Given the description of an element on the screen output the (x, y) to click on. 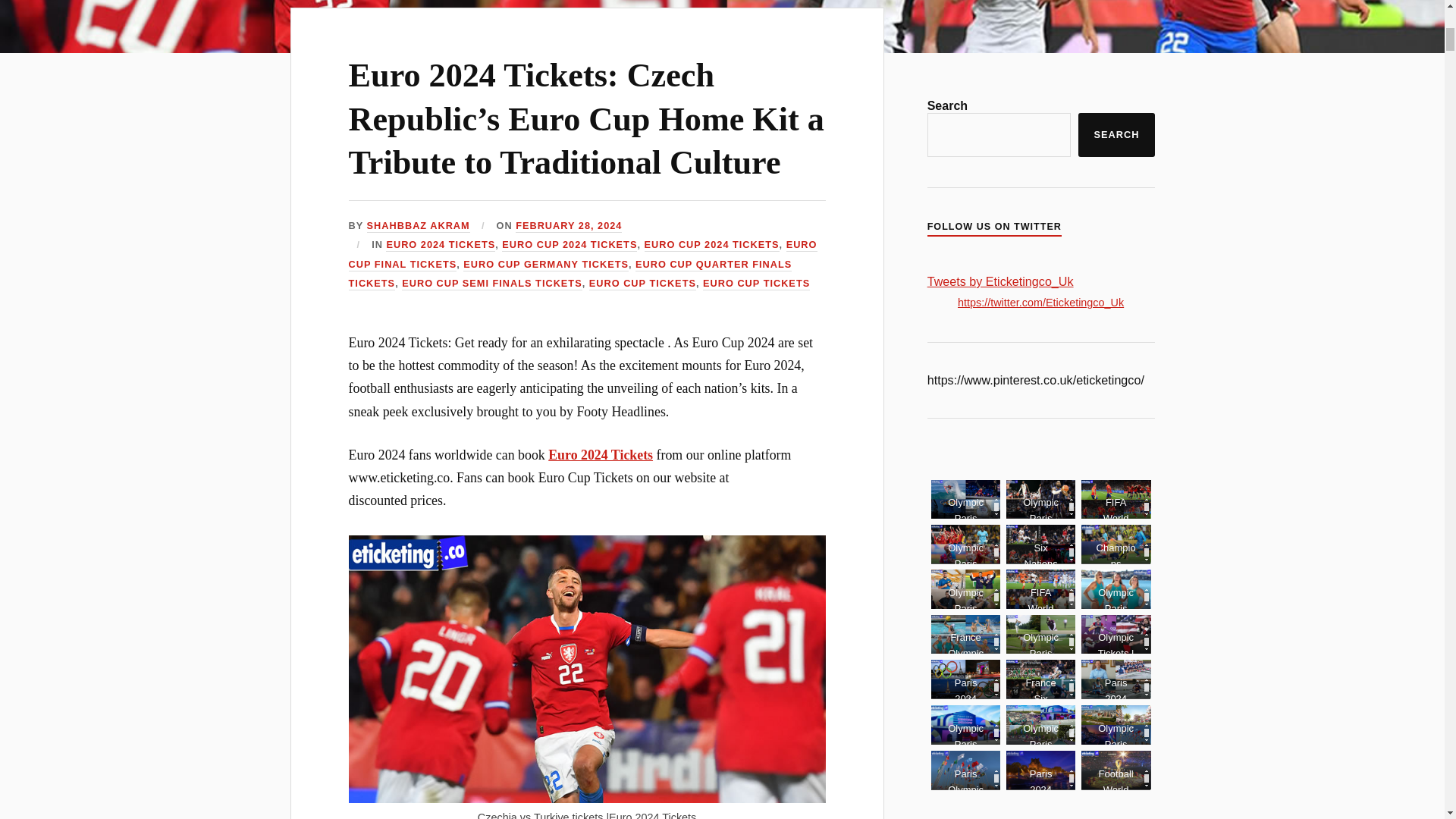
EURO CUP QUARTER FINALS TICKETS (570, 274)
EURO CUP 2024 TICKETS (569, 245)
EURO CUP GERMANY TICKETS (545, 264)
SHAHBBAZ AKRAM (418, 226)
FEBRUARY 28, 2024 (568, 226)
EURO CUP 2024 TICKETS (711, 245)
EURO CUP FINAL TICKETS (582, 255)
Posts by Shahbbaz Akram (418, 226)
EURO 2024 TICKETS (440, 245)
